Given the description of an element on the screen output the (x, y) to click on. 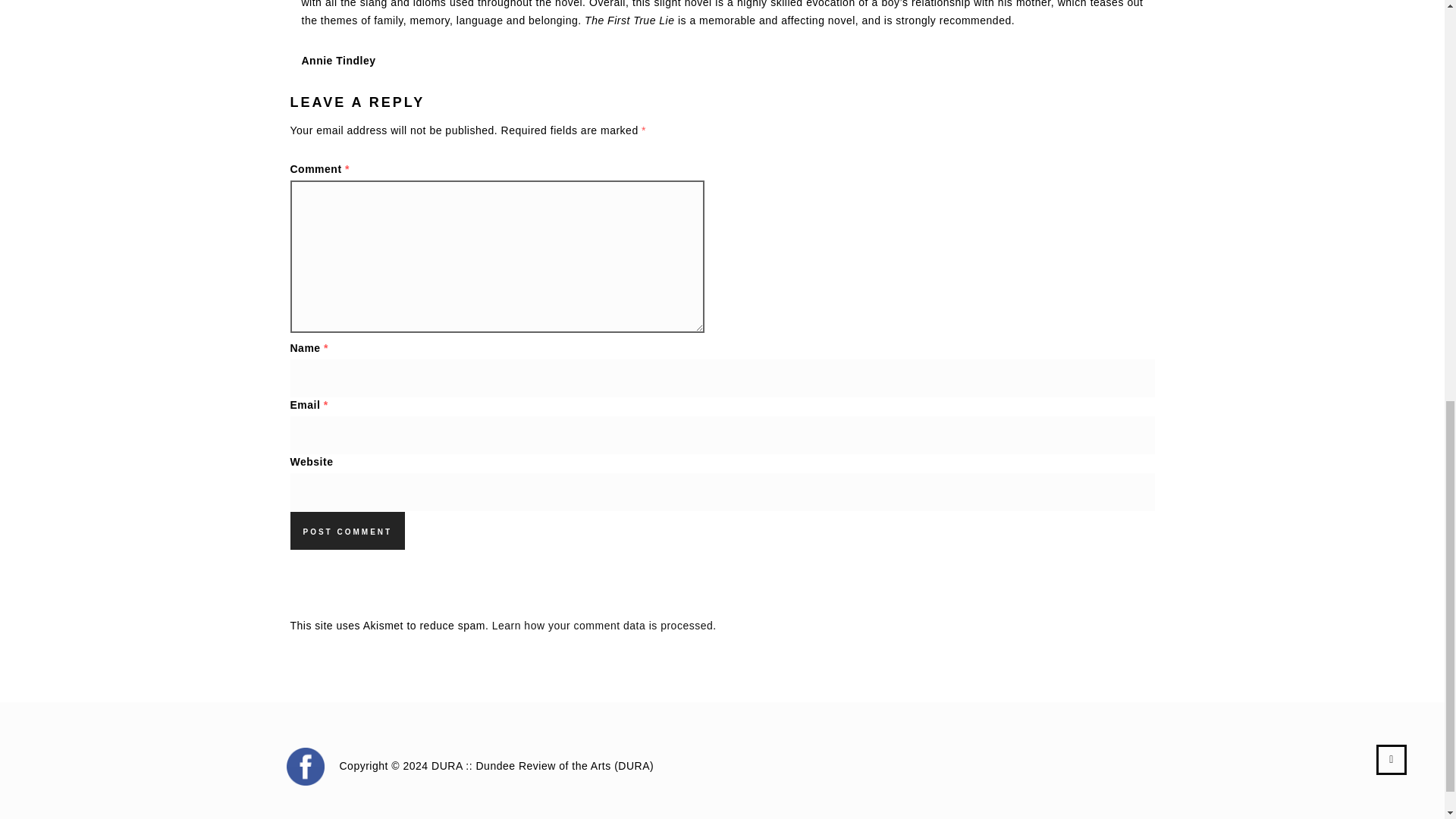
Post Comment (346, 530)
Post Comment (346, 530)
Learn how your comment data is processed (602, 625)
